Given the description of an element on the screen output the (x, y) to click on. 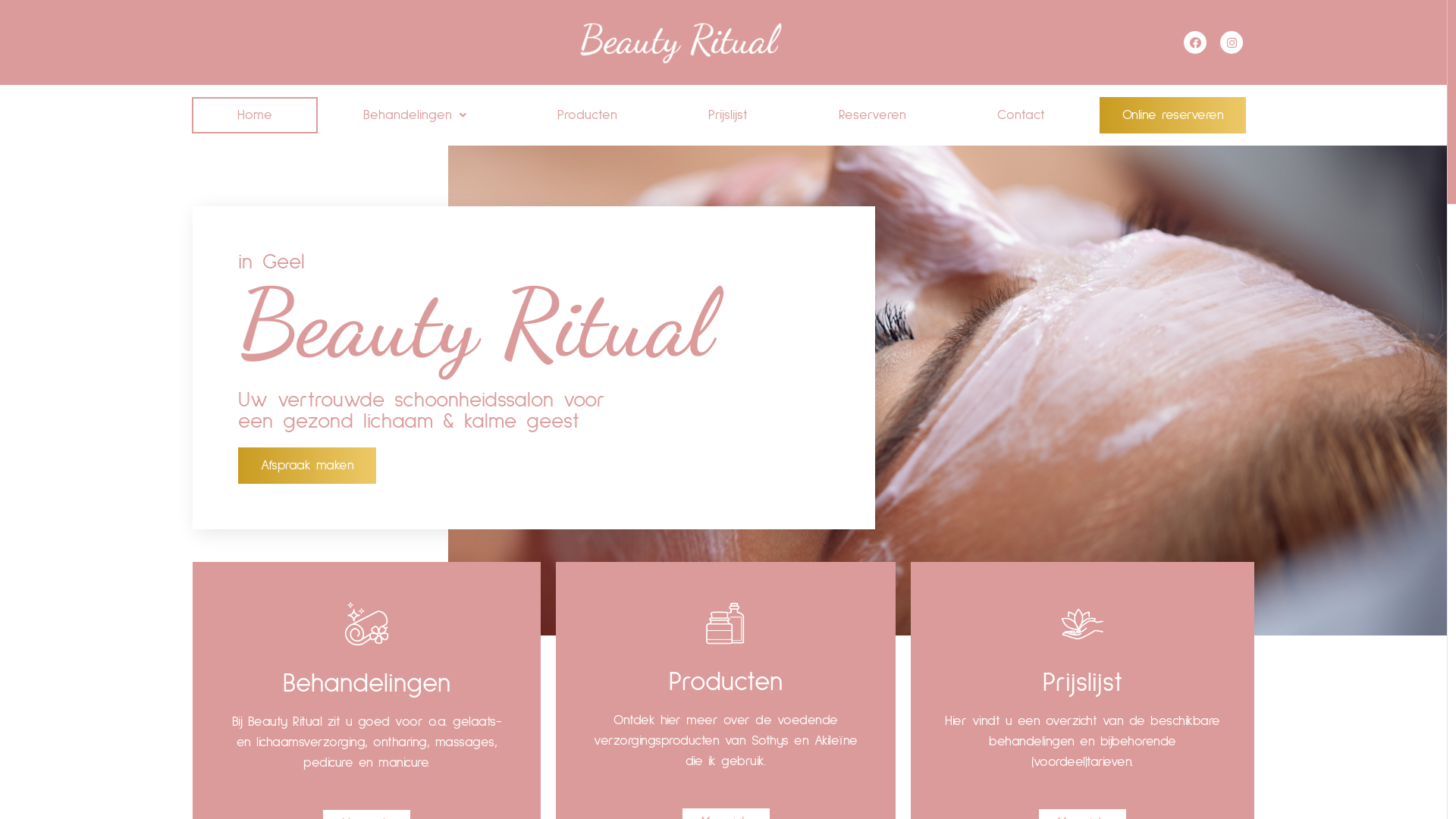
Home Element type: text (254, 115)
Afspraak maken Element type: text (307, 465)
Prijslijst Element type: text (1082, 682)
Behandelingen Element type: text (414, 115)
Behandelingen Element type: text (366, 683)
Online reserveren Element type: text (1172, 115)
Contact Element type: text (1020, 115)
Prijslijst Element type: text (727, 115)
Producten Element type: text (725, 681)
Producten Element type: text (586, 115)
Reserveren Element type: text (872, 115)
